Given the description of an element on the screen output the (x, y) to click on. 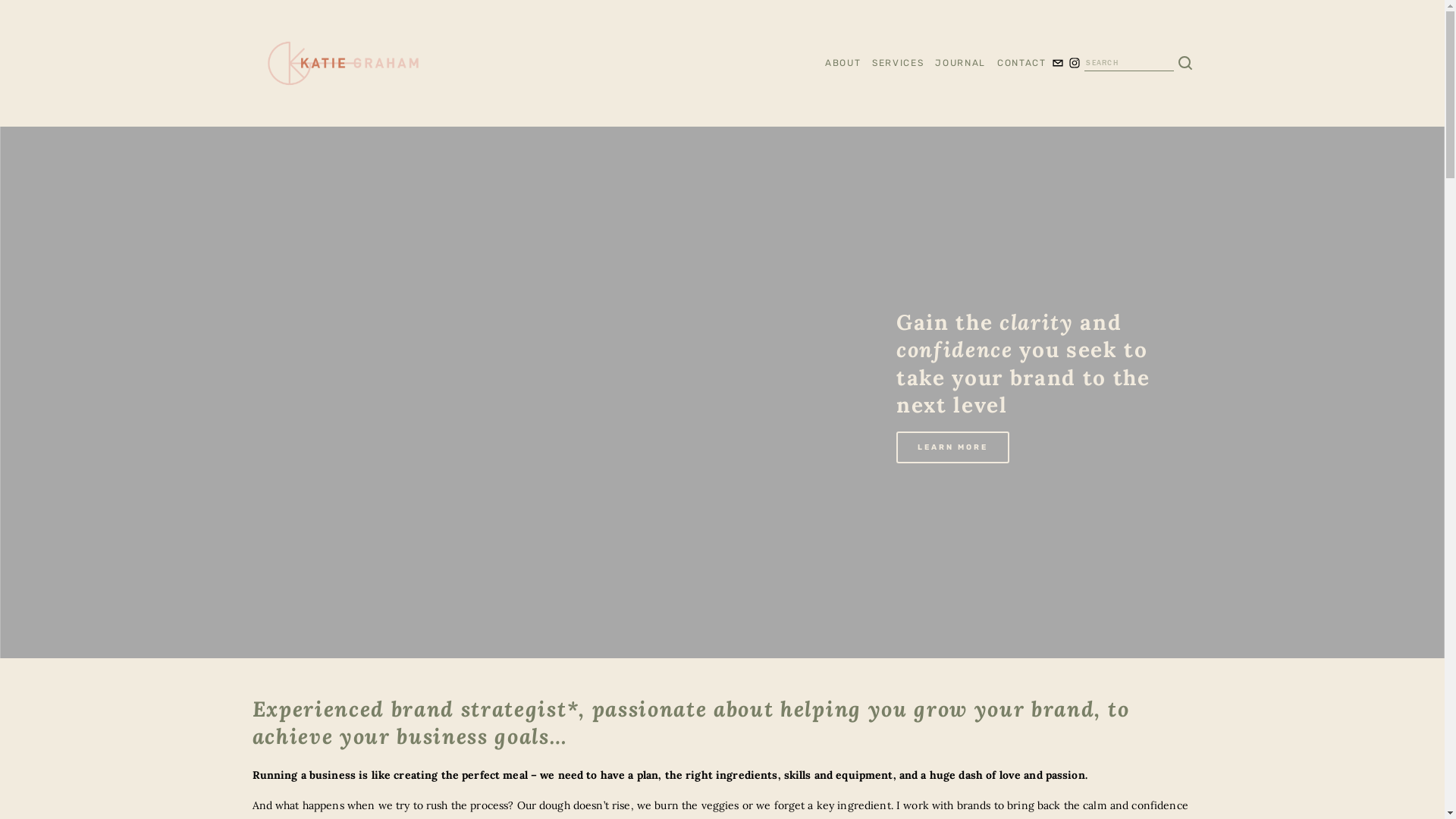
LEARN MORE Element type: text (952, 447)
JOURNAL Element type: text (960, 63)
CONTACT Element type: text (1021, 63)
ABOUT Element type: text (842, 63)
SERVICES Element type: text (897, 63)
